Given the description of an element on the screen output the (x, y) to click on. 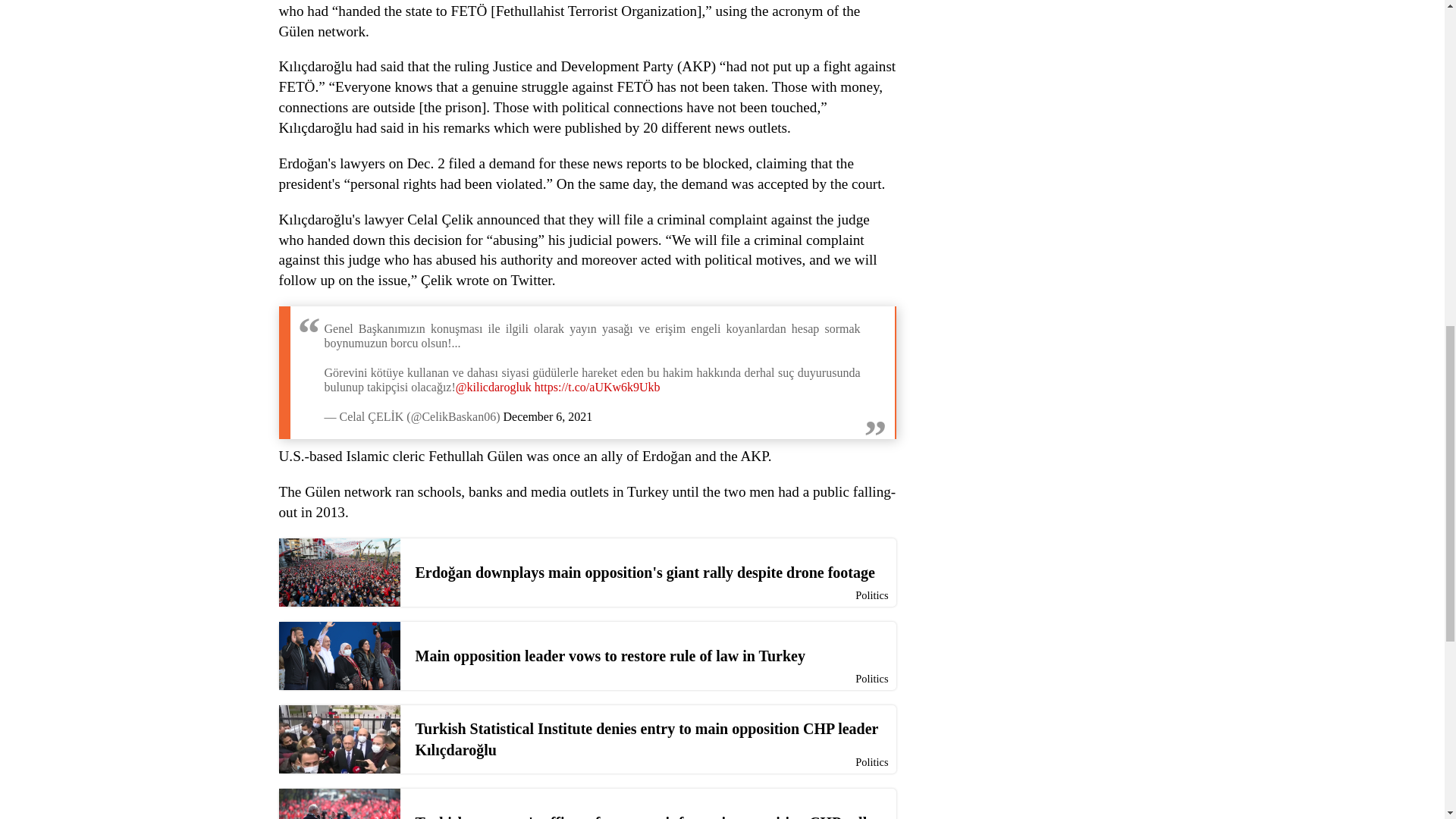
Main opposition leader vows to restore rule of law in Turkey (587, 655)
December 6, 2021 (547, 416)
